Given the description of an element on the screen output the (x, y) to click on. 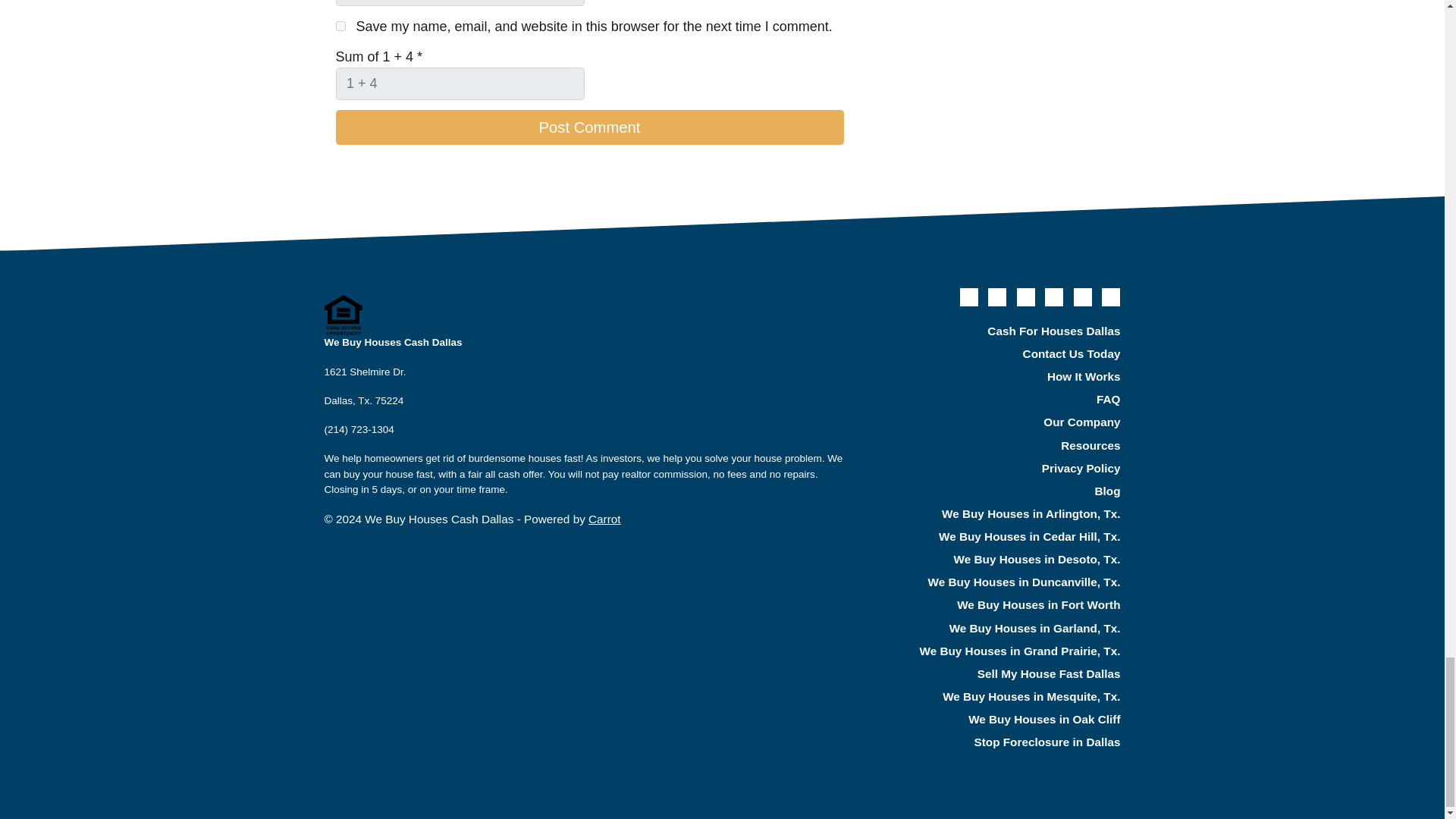
yes (339, 26)
Post Comment (588, 126)
We Buy Houses Cash Arlington, Tx. (995, 513)
Post Comment (588, 126)
